Given the description of an element on the screen output the (x, y) to click on. 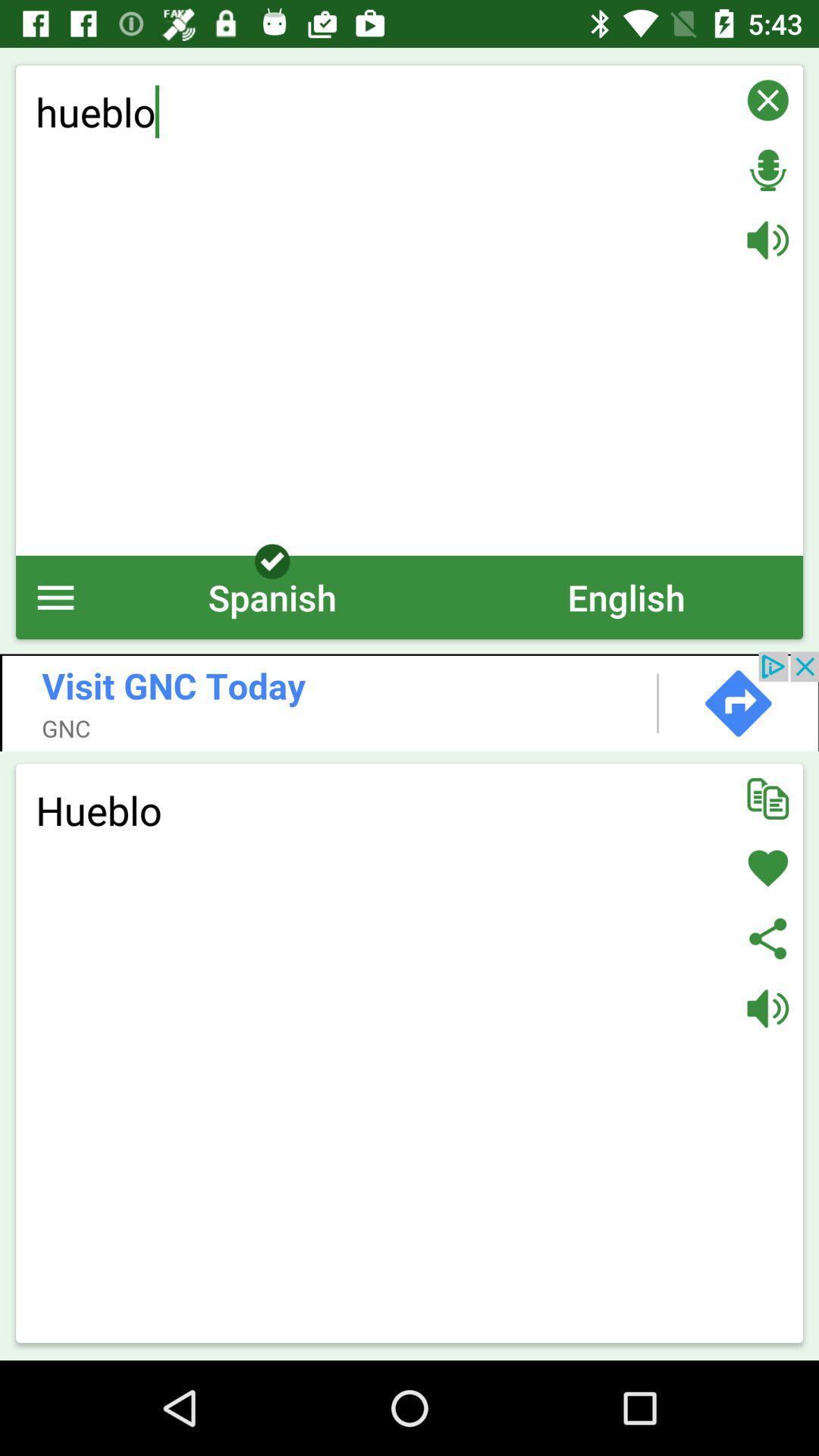
scroll until english icon (626, 597)
